Given the description of an element on the screen output the (x, y) to click on. 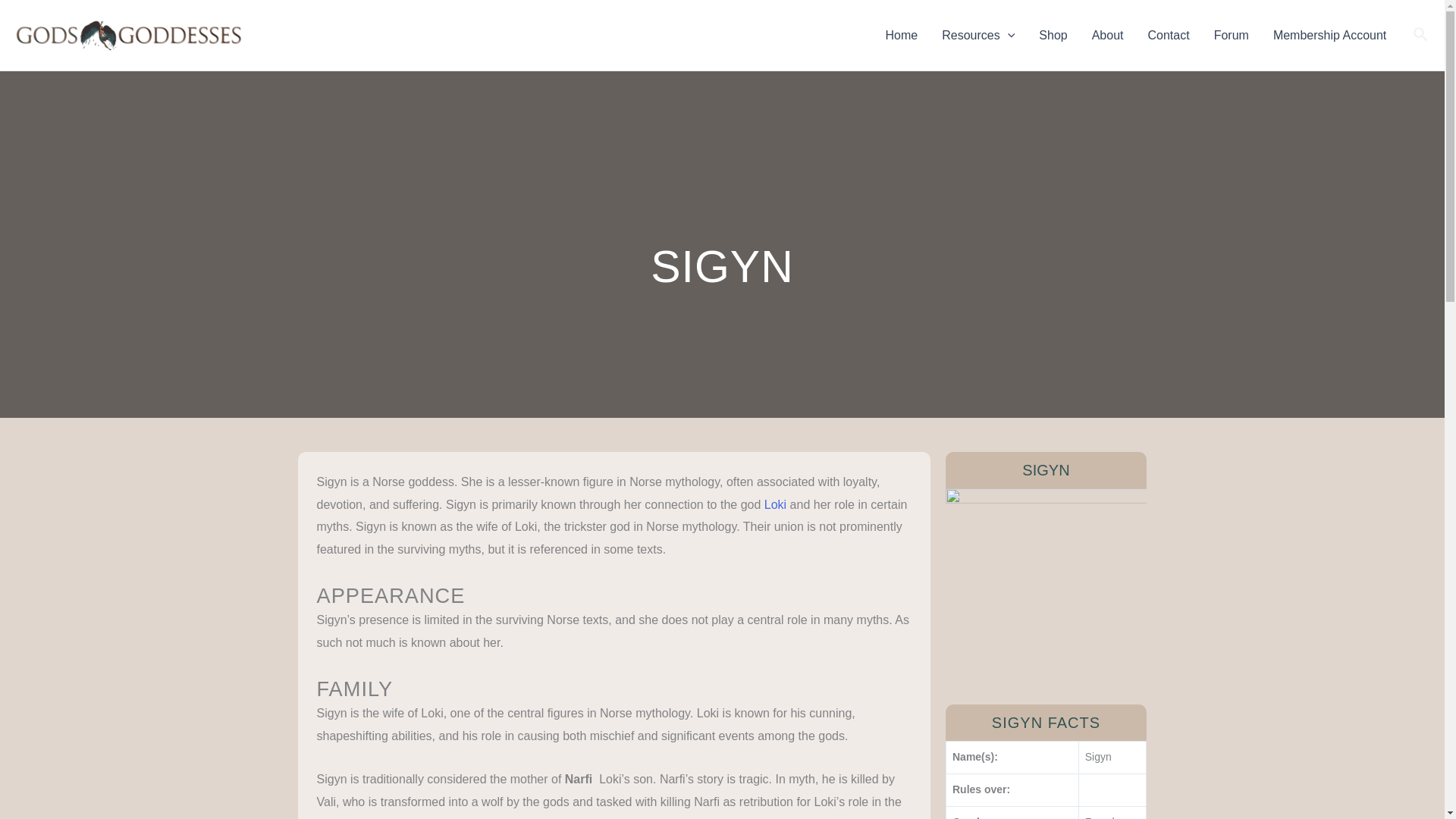
Resources (978, 34)
Contact (1168, 34)
Home (901, 34)
Membership Account (1328, 34)
Forum (1231, 34)
About (1107, 34)
